Given the description of an element on the screen output the (x, y) to click on. 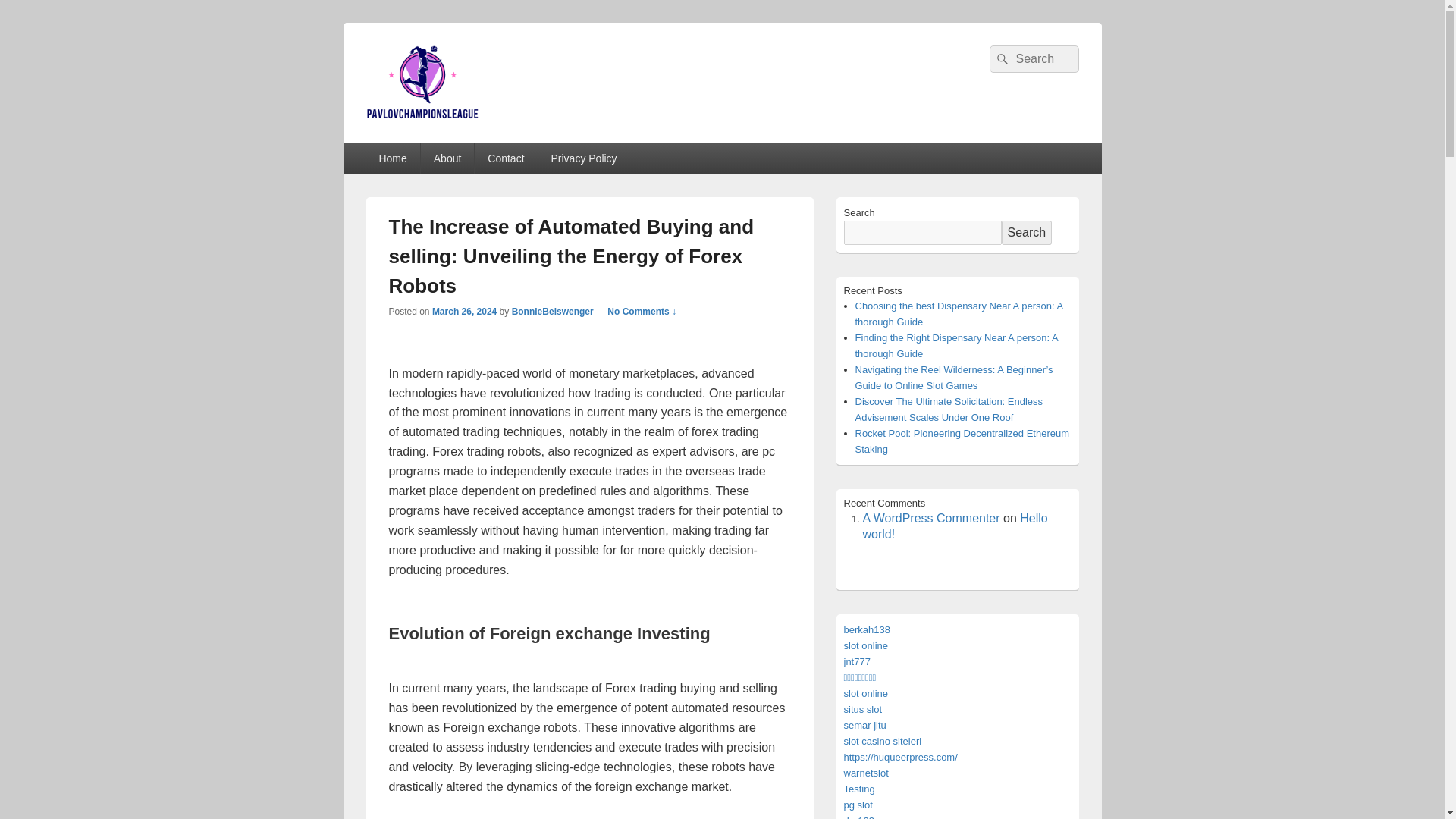
A WordPress Commenter (931, 517)
Privacy Policy (584, 158)
semar jitu (864, 725)
situs slot (862, 708)
slot online (865, 693)
Contact (505, 158)
Search (1026, 232)
Home (392, 158)
About (447, 158)
slot online (865, 645)
warnetslot (865, 772)
BonnieBeiswenger (553, 311)
slot casino siteleri (882, 740)
berkah138 (866, 629)
Finding the Right Dispensary Near A person: A thorough Guide (957, 345)
